Given the description of an element on the screen output the (x, y) to click on. 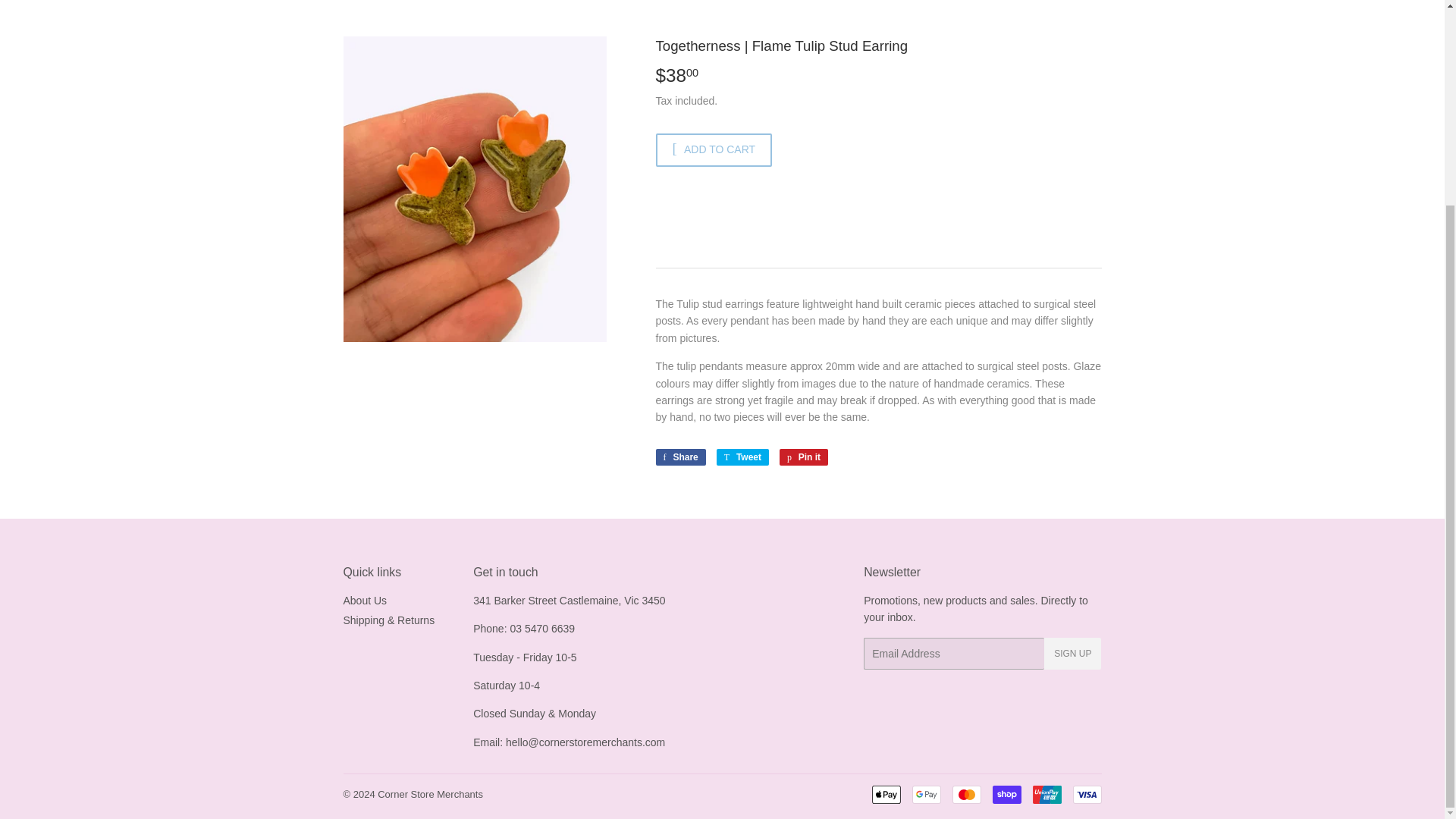
Visa (1085, 794)
Pin on Pinterest (803, 457)
Google Pay (679, 457)
Share on Facebook (925, 794)
Mastercard (679, 457)
Tweet on Twitter (966, 794)
Shop Pay (742, 457)
Apple Pay (1005, 794)
Union Pay (886, 794)
ADD TO CART (1046, 794)
